Given the description of an element on the screen output the (x, y) to click on. 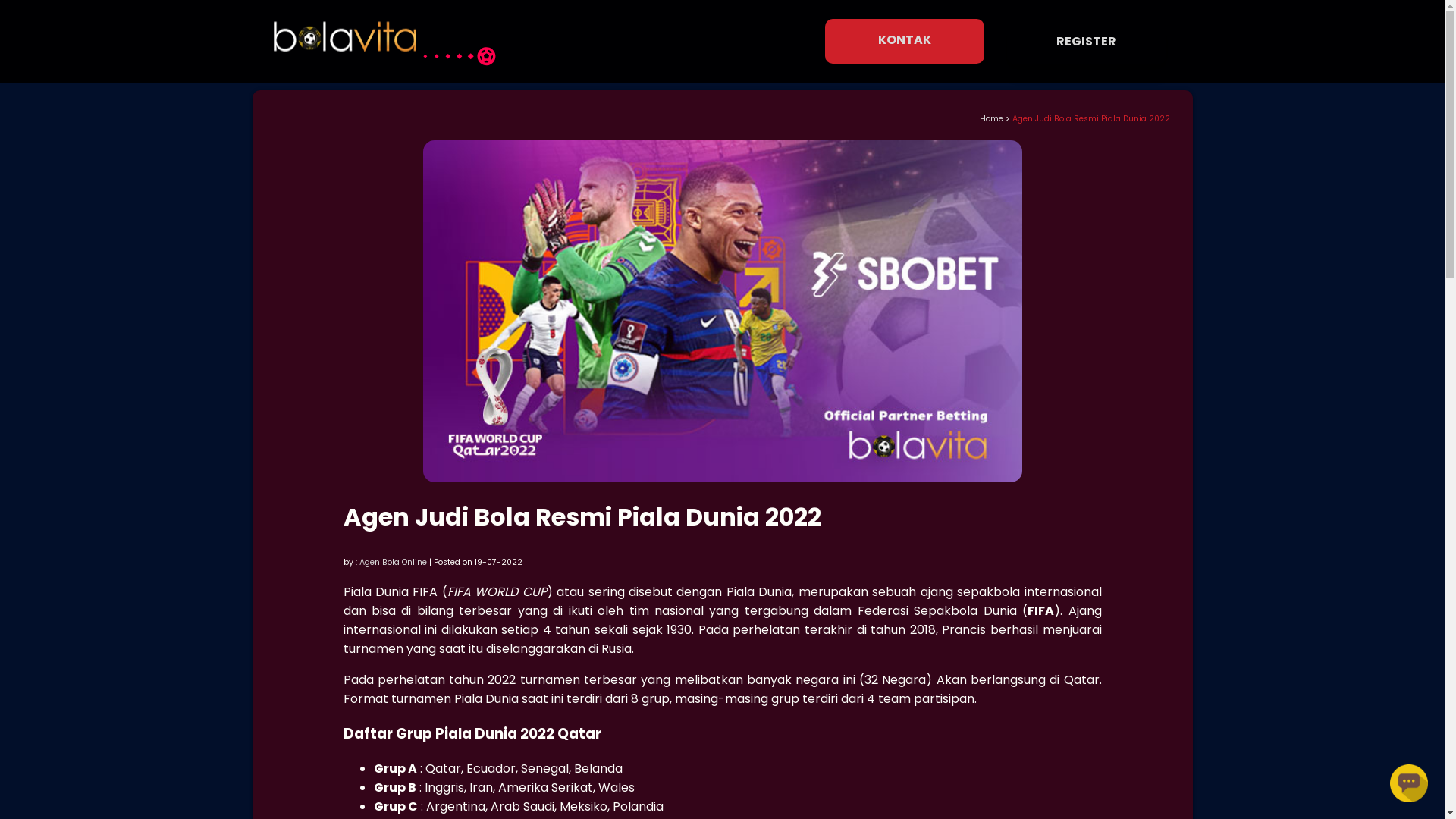
Agen Judi Bola Resmi Piala Dunia 2022 Element type: text (1090, 118)
KONTAK Element type: text (904, 40)
REGISTER Element type: text (1086, 40)
Home Element type: text (991, 118)
Agen Bola Online Element type: text (392, 561)
